Given the description of an element on the screen output the (x, y) to click on. 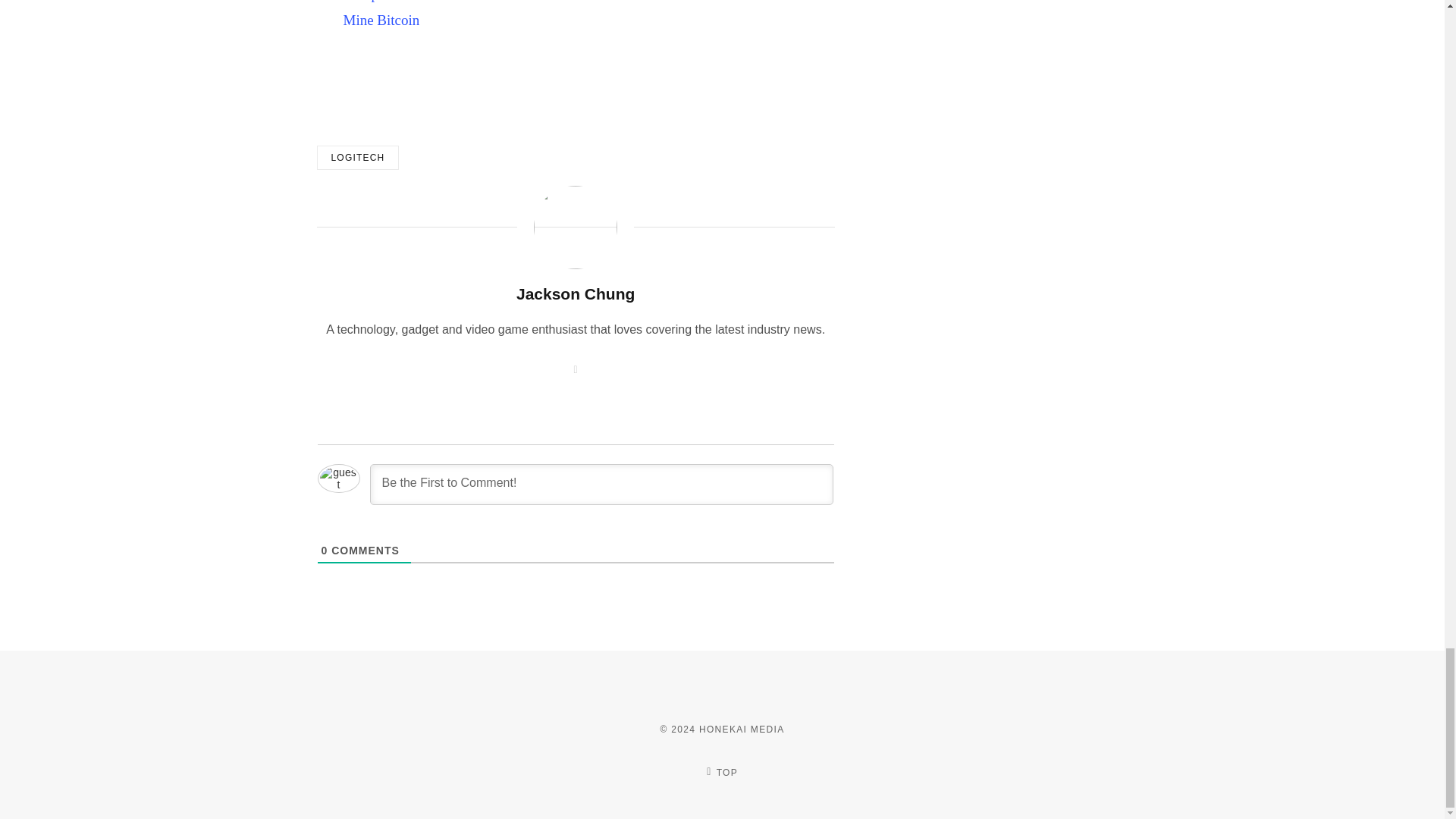
Jackson Chung (575, 293)
LOGITECH (357, 157)
